Given the description of an element on the screen output the (x, y) to click on. 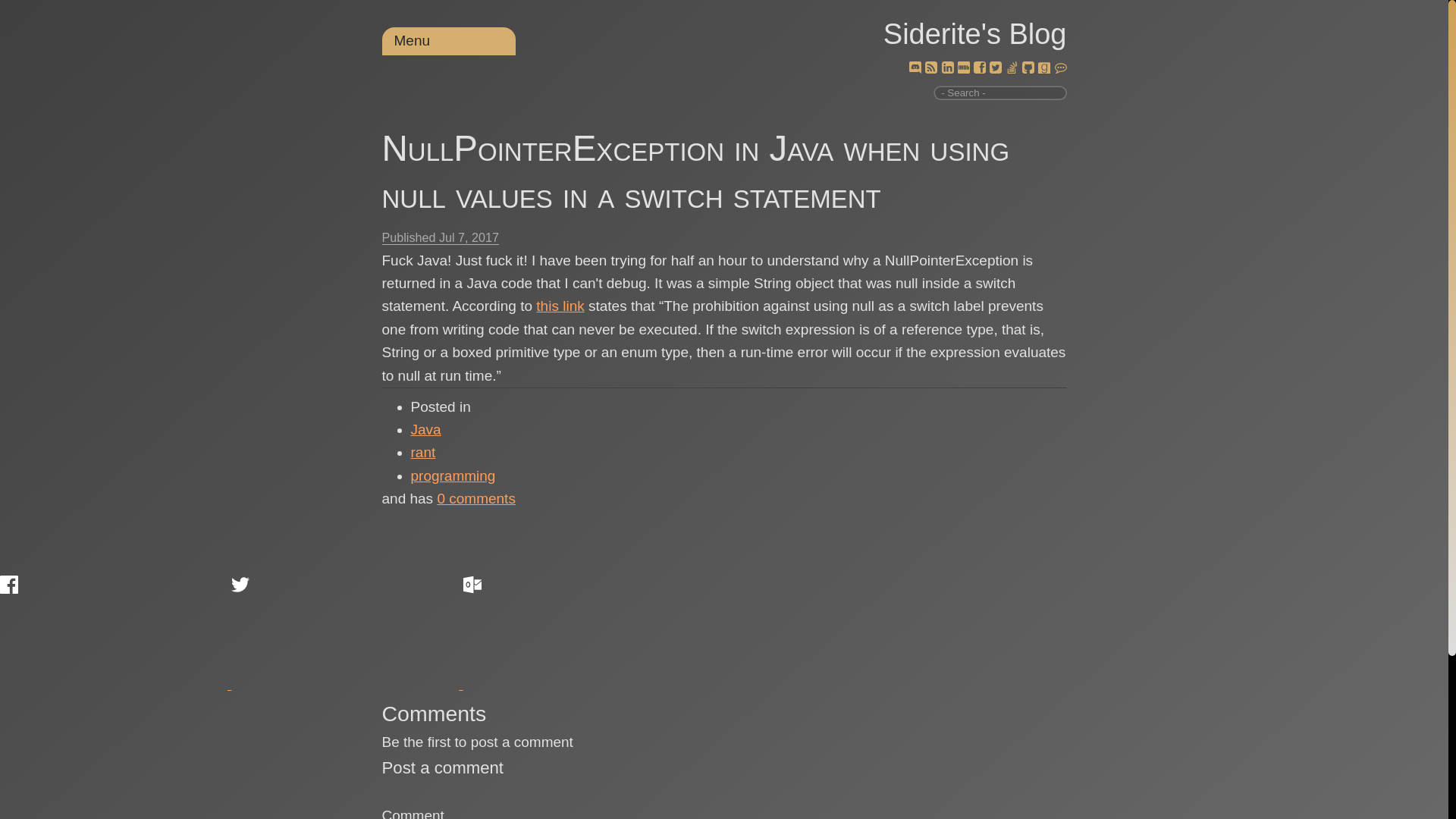
Why doesn't String switch statement support a null case? (559, 305)
Email (576, 632)
Siderite's Blog (975, 33)
Go to the comments section (475, 498)
Menu (412, 40)
Share on Facebook (113, 632)
Share on Twitter (344, 632)
